Given the description of an element on the screen output the (x, y) to click on. 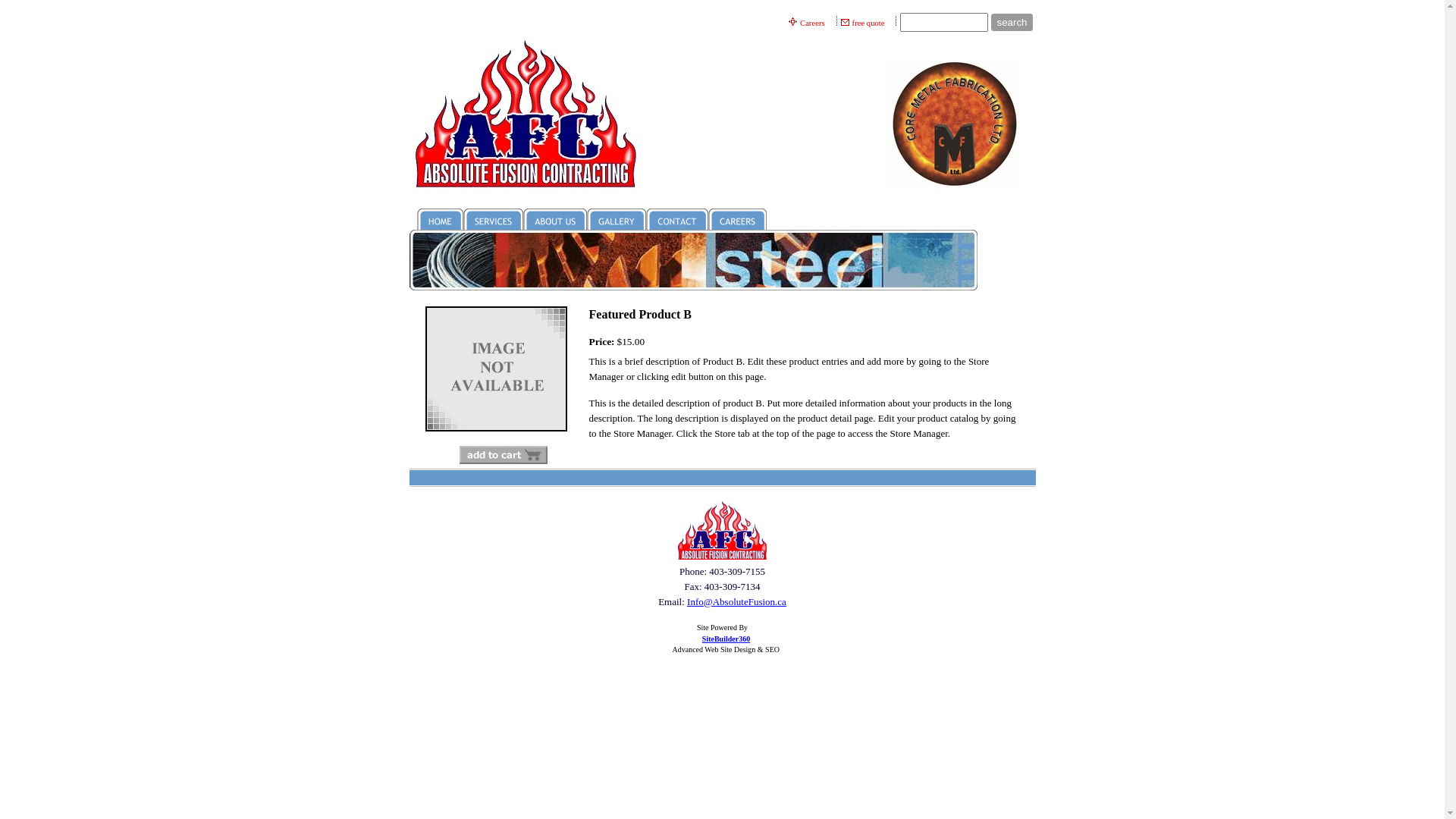
Info@AbsoluteFusion.ca Element type: text (736, 601)
free quote Element type: text (869, 23)
Careers Element type: text (813, 23)
search Element type: text (1011, 22)
SiteBuilder360 Element type: text (725, 638)
